Given the description of an element on the screen output the (x, y) to click on. 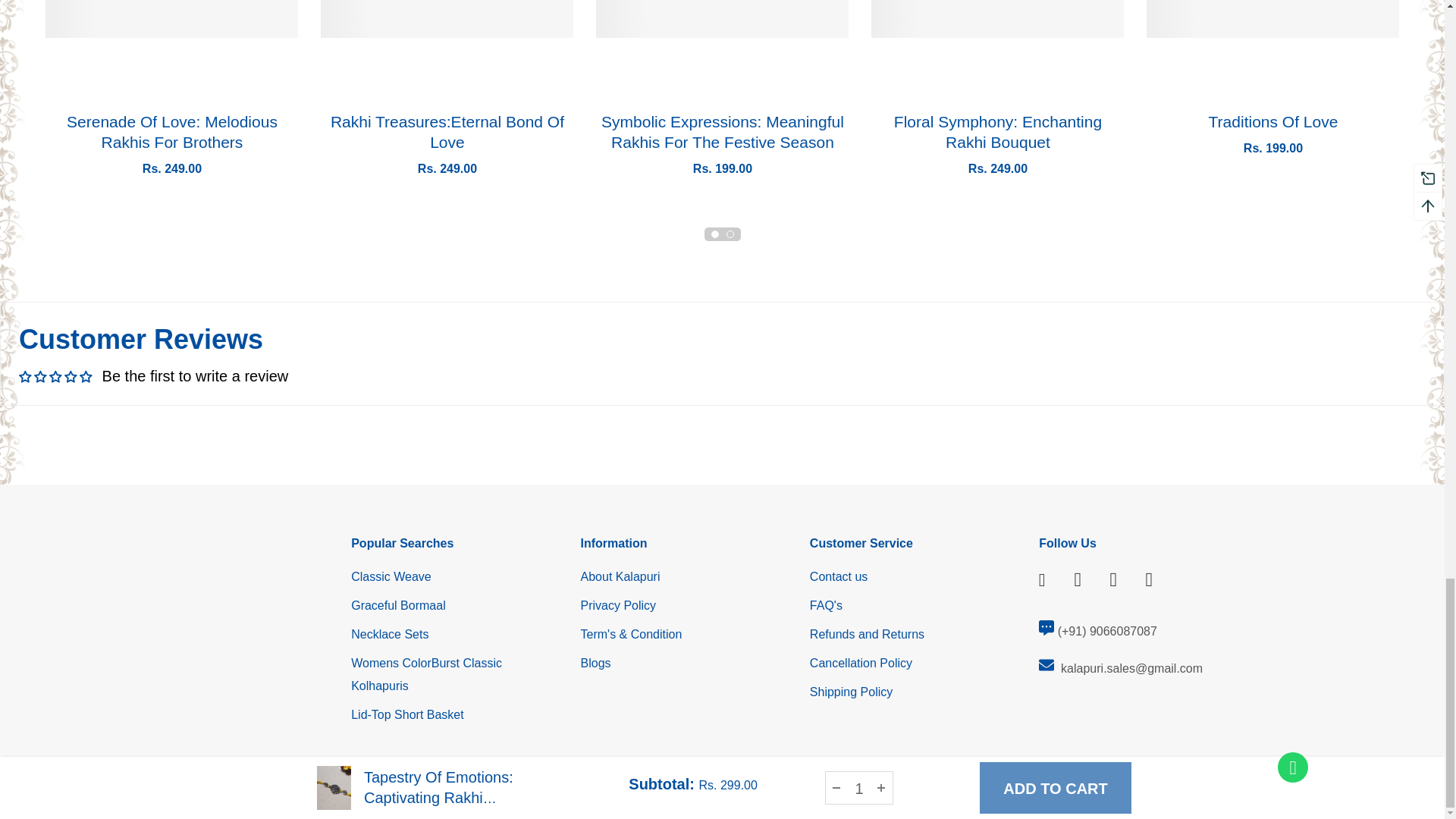
Necklace Sets (389, 634)
Graceful Bormaal (397, 605)
Classic Weave (390, 576)
